Given the description of an element on the screen output the (x, y) to click on. 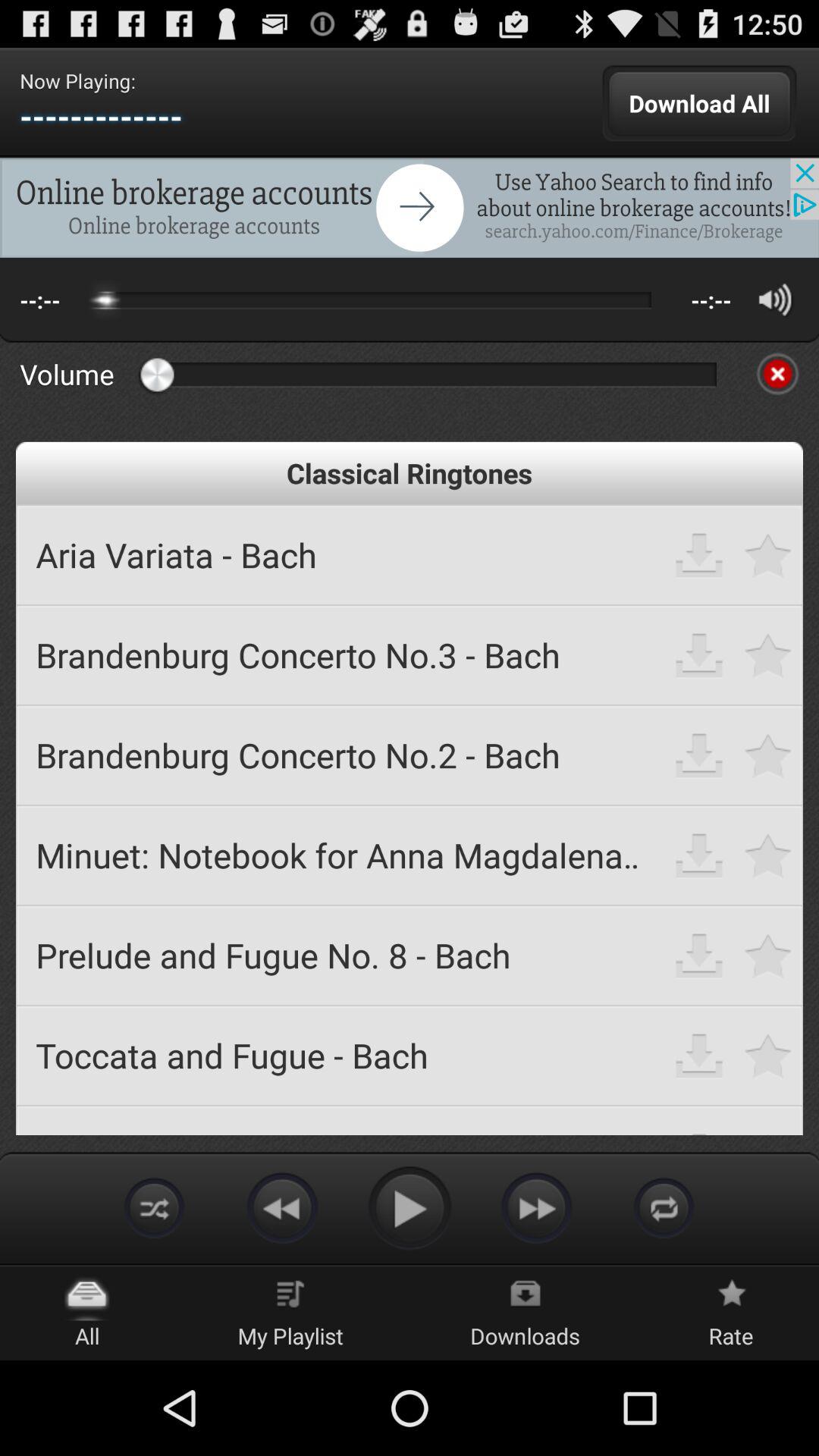
put on sound (775, 299)
